Given the description of an element on the screen output the (x, y) to click on. 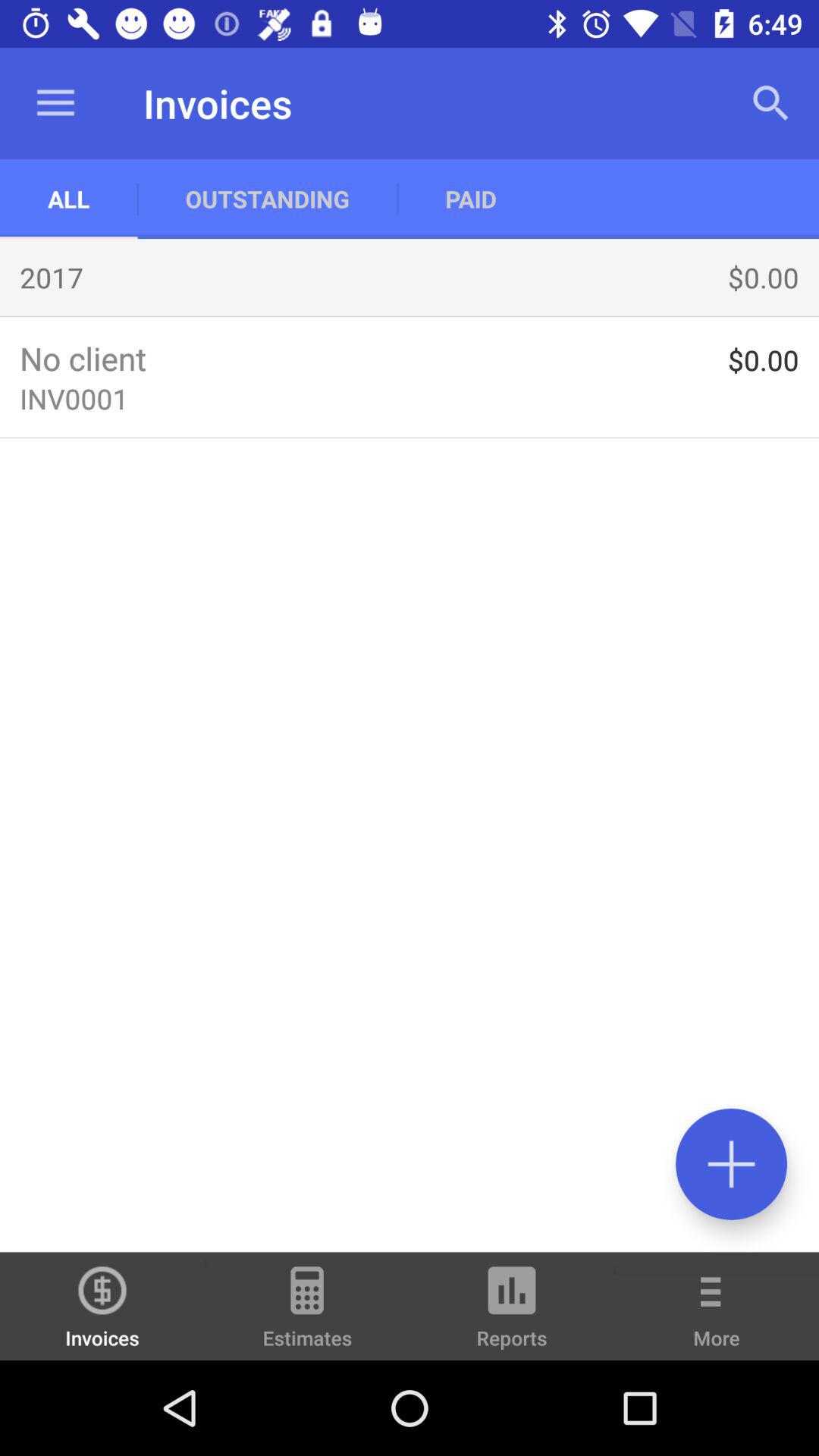
launch the app to the right of the outstanding icon (470, 198)
